Given the description of an element on the screen output the (x, y) to click on. 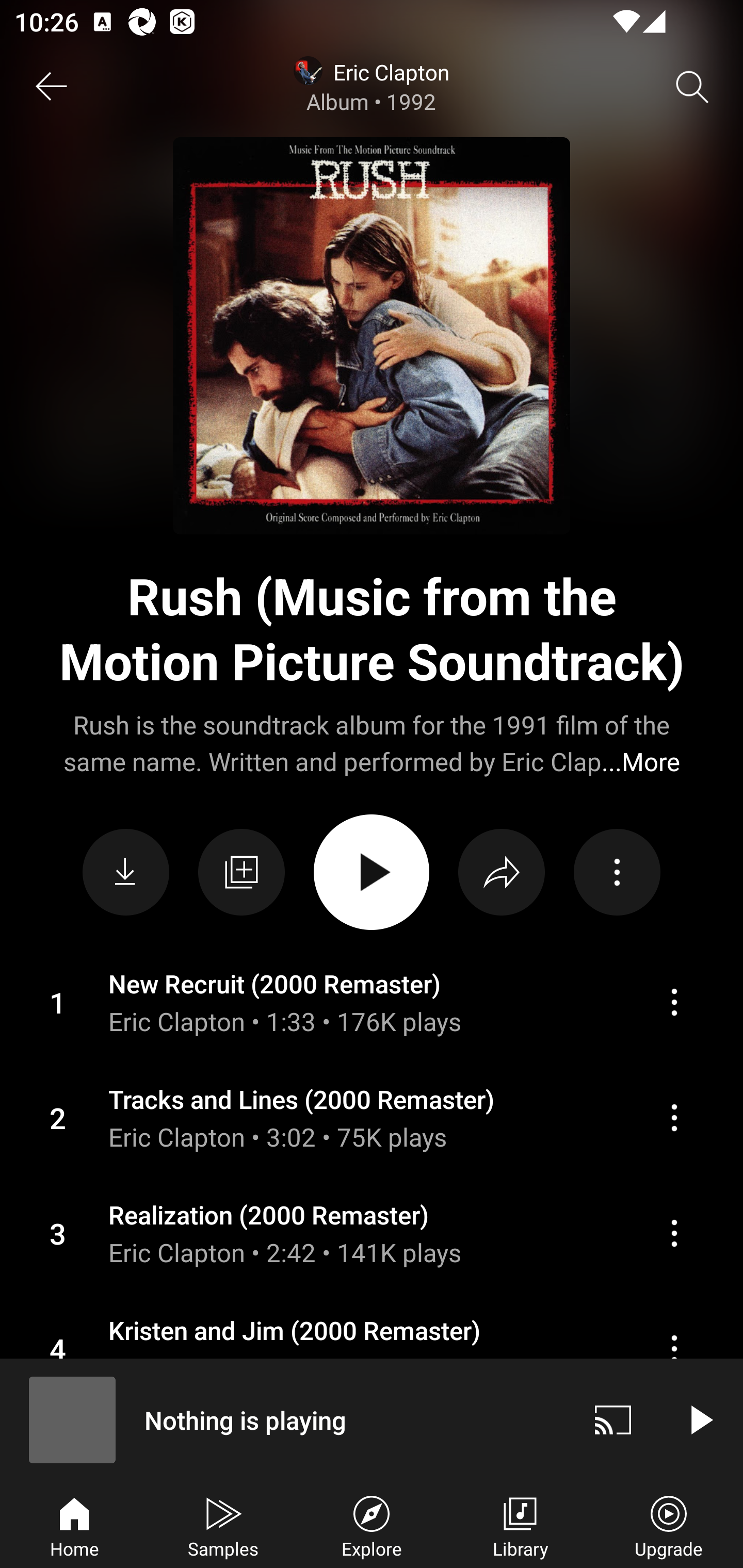
Back (50, 86)
Search (692, 86)
PLAY ALL (371, 871)
Download (125, 871)
Save to library (241, 871)
Share (501, 871)
Action menu (616, 871)
Action menu (371, 1001)
Action menu (673, 1002)
Action menu (371, 1117)
Action menu (673, 1117)
Action menu (371, 1233)
Action menu (673, 1233)
Action menu (371, 1348)
Action menu (673, 1349)
Nothing is playing (284, 1419)
Cast. Disconnected (612, 1419)
Play video (699, 1419)
Home (74, 1524)
Samples (222, 1524)
Explore (371, 1524)
Library (519, 1524)
Upgrade (668, 1524)
